Given the description of an element on the screen output the (x, y) to click on. 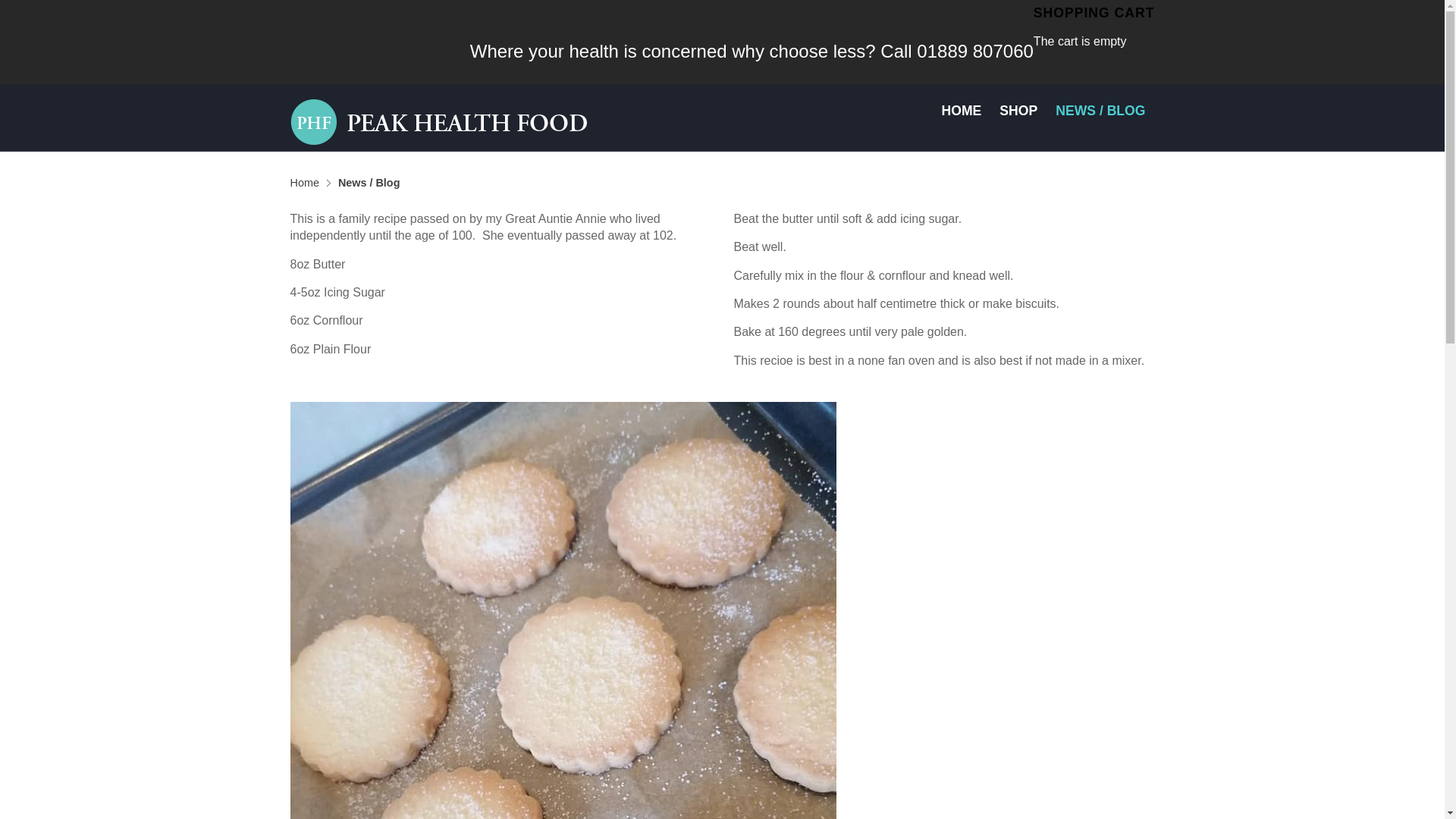
SHOP (1018, 117)
Home (309, 182)
HOME (962, 117)
